Given the description of an element on the screen output the (x, y) to click on. 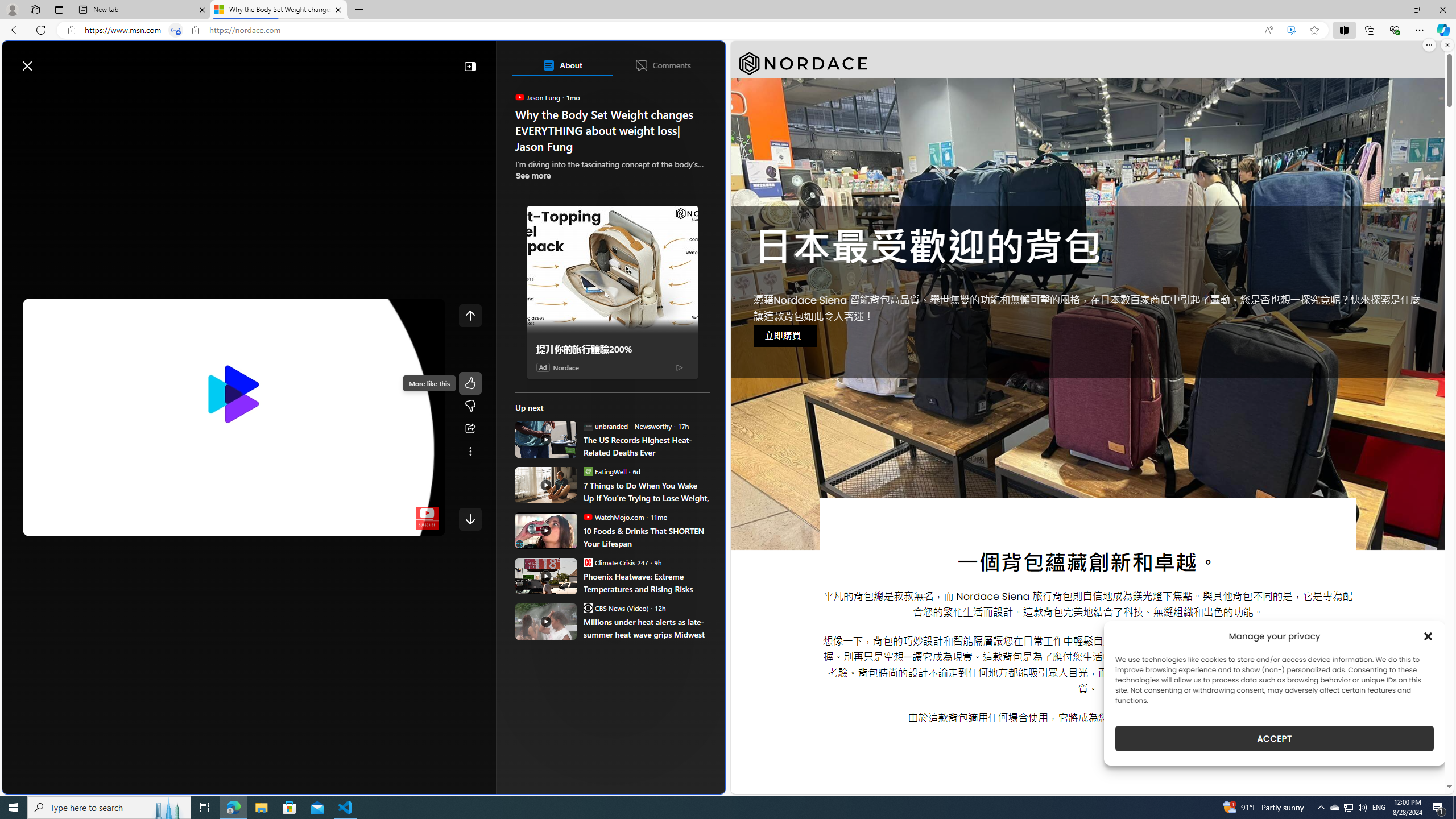
Refresh (40, 29)
EatingWell EatingWell (604, 470)
Close tab (338, 9)
Open Copilot (565, 59)
Close split screen. (1447, 45)
Tab actions menu (58, 9)
Comments (662, 64)
More like thisMore like thisFewer like this (469, 394)
Collections (1369, 29)
Close (1442, 9)
WatchMojo.com WatchMojo.com (613, 516)
See more (469, 451)
Climate Crisis 247 Climate Crisis 247 (614, 561)
